Given the description of an element on the screen output the (x, y) to click on. 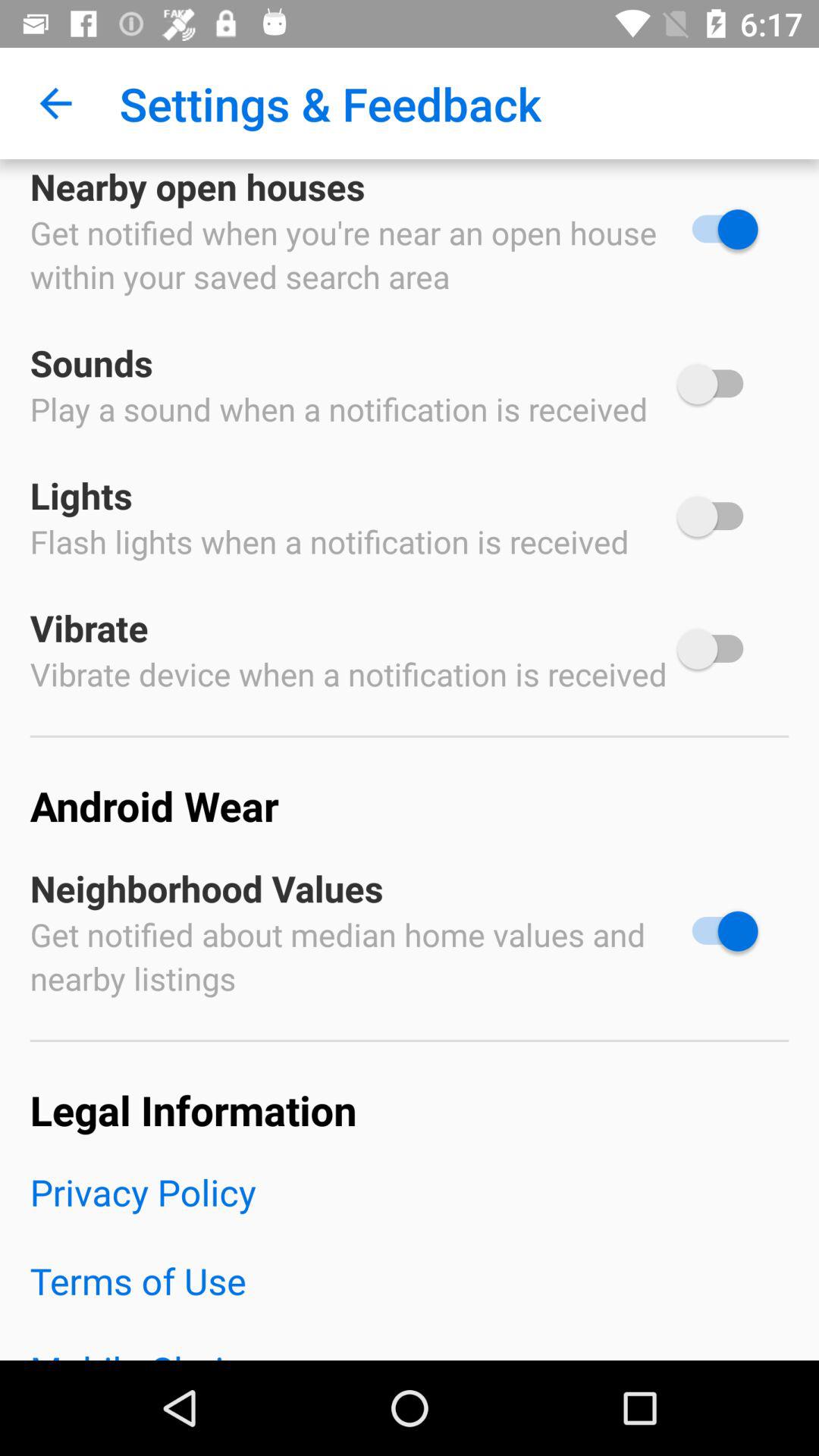
notification on (717, 931)
